Given the description of an element on the screen output the (x, y) to click on. 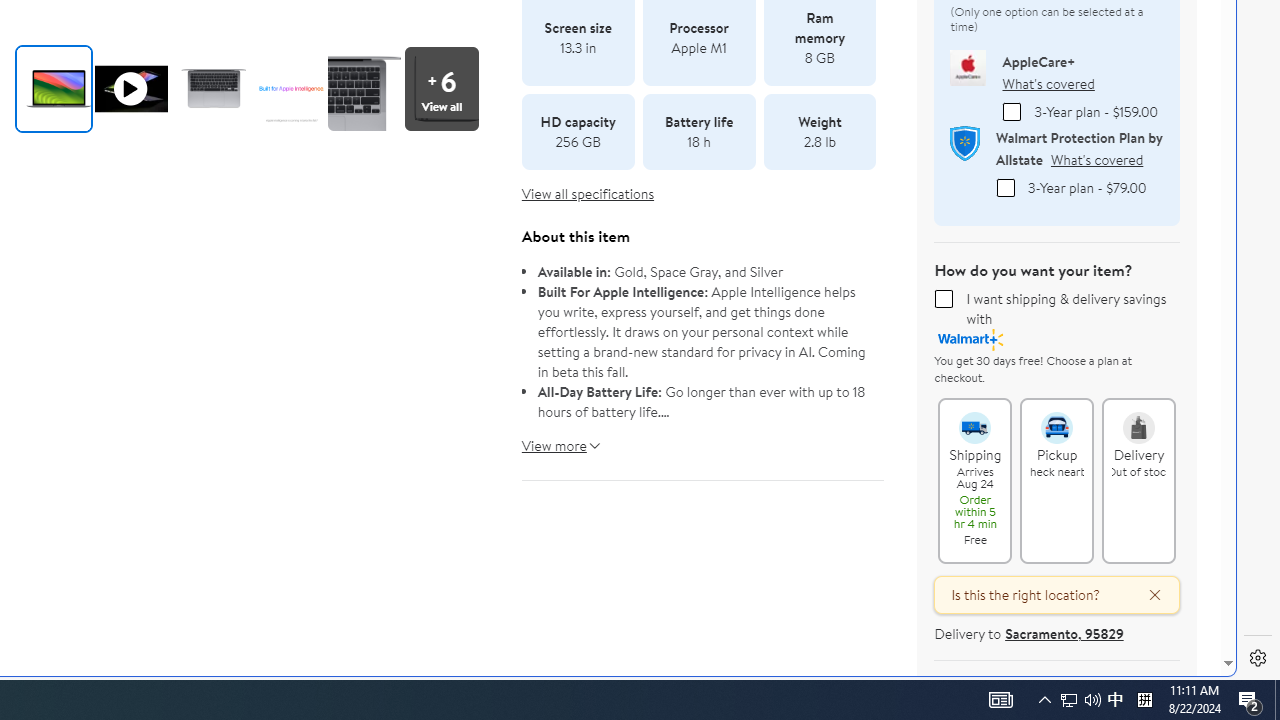
Delivery Out of stock Delivery Out of stock (1139, 480)
View all media (447, 88)
View more, item details (553, 438)
What's covered of Walmart Protection Plan by Allstate (1096, 159)
What's covered of AppleCare+ (1048, 83)
Delivery Out of stock (1138, 417)
Pickup Check nearby (1056, 417)
3-Year plan - $79.00 (1005, 188)
View all media (441, 88)
